Given the description of an element on the screen output the (x, y) to click on. 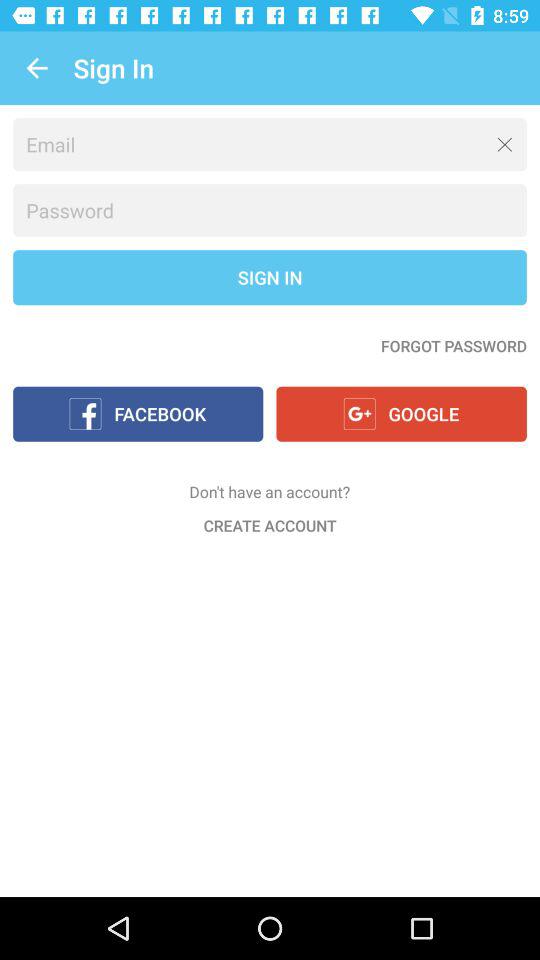
put in password (269, 210)
